Given the description of an element on the screen output the (x, y) to click on. 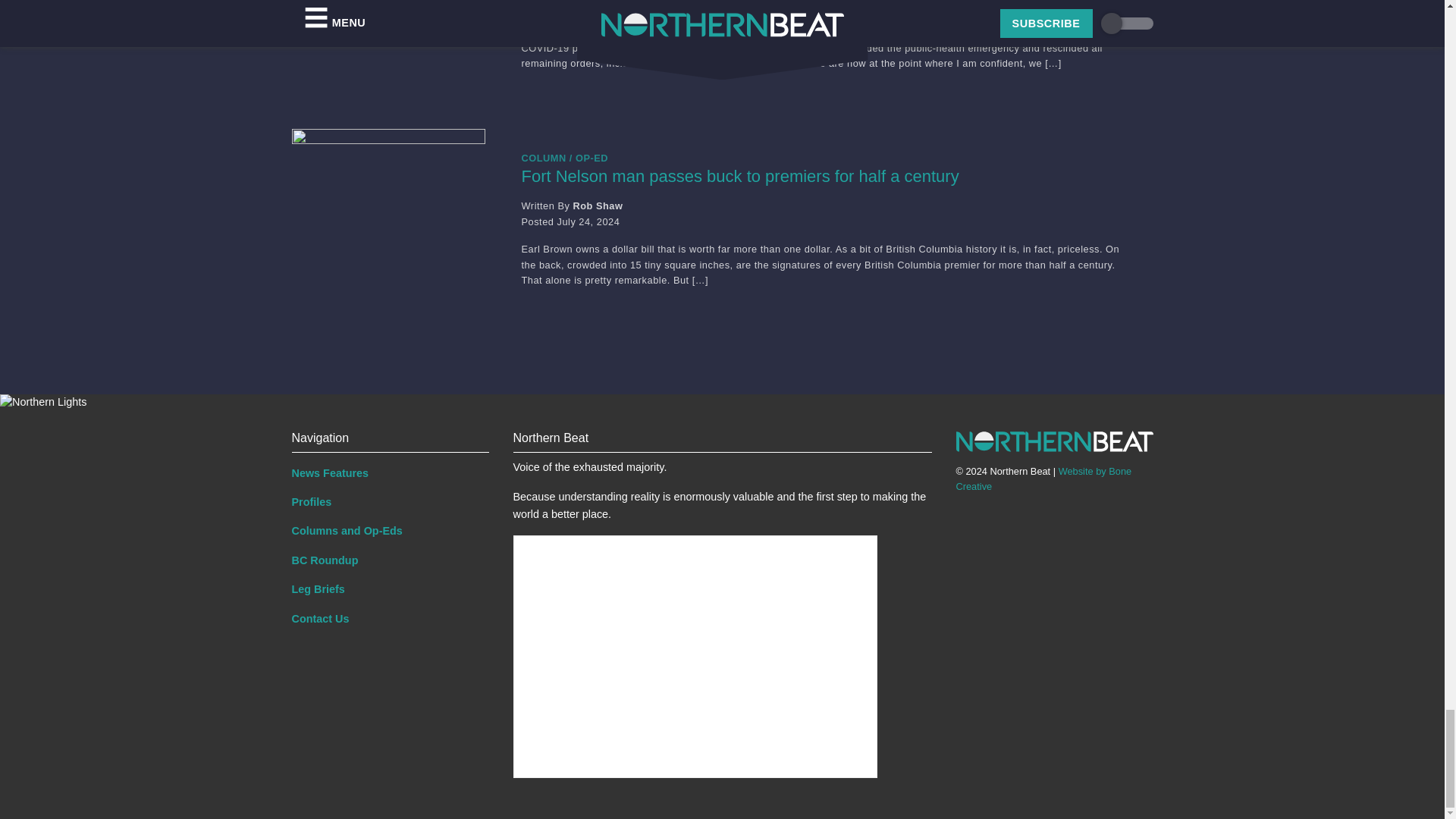
Fort Nelson man passes buck to premiers for half a century (823, 176)
Columns and Op-Eds (389, 530)
Leg Briefs (389, 588)
News Features (389, 472)
BC Roundup (389, 560)
Website by Bone Creative (1043, 479)
Profiles (389, 501)
Contact Us (389, 618)
